Given the description of an element on the screen output the (x, y) to click on. 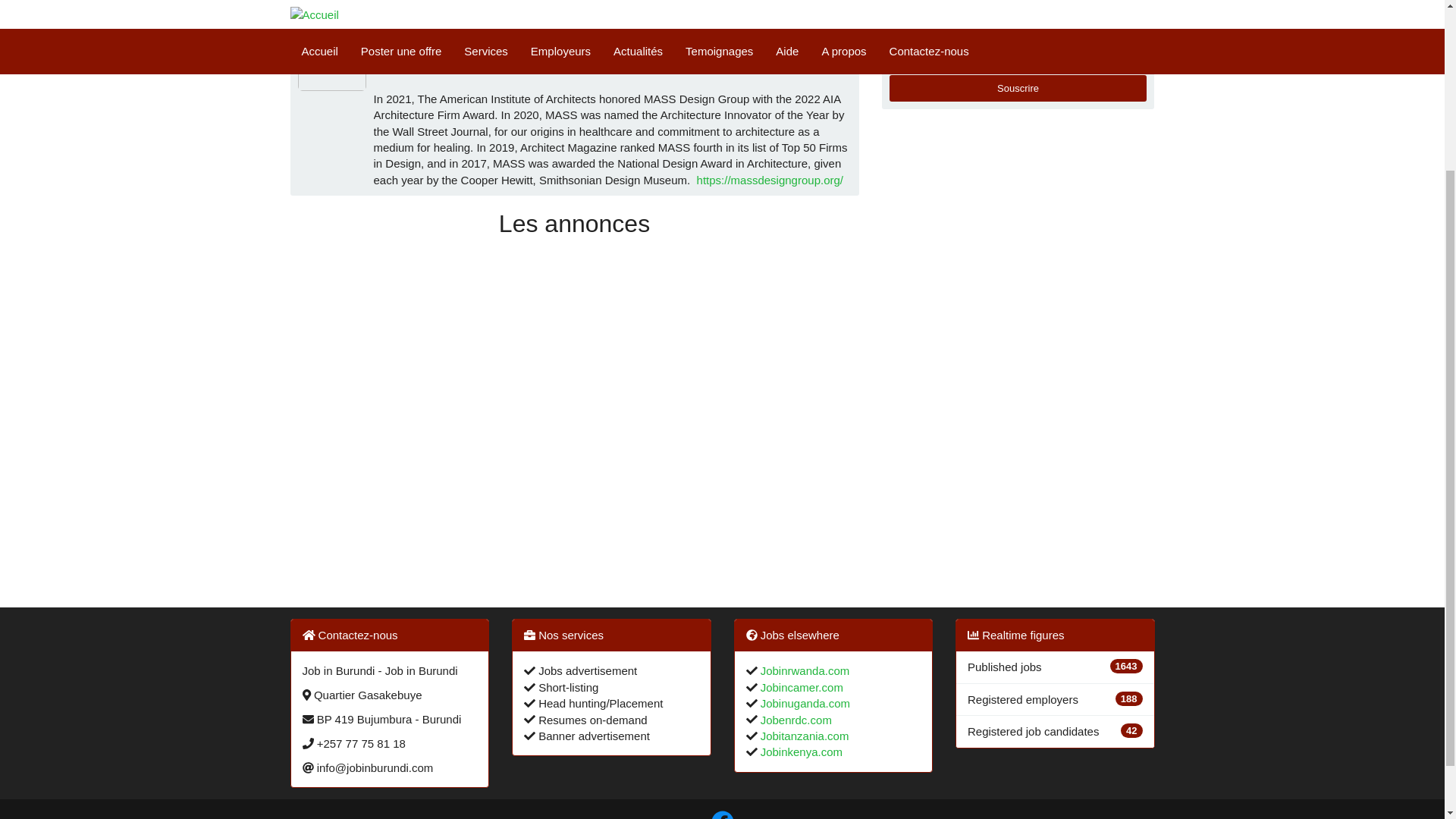
Jobincamer.com (800, 686)
Jobinuganda.com (803, 703)
Jobitanzania.com (802, 735)
Jobinkenya.com (800, 751)
Jobenrdc.com (794, 719)
Jobinrwanda.com (802, 670)
Souscrire (1017, 88)
